Given the description of an element on the screen output the (x, y) to click on. 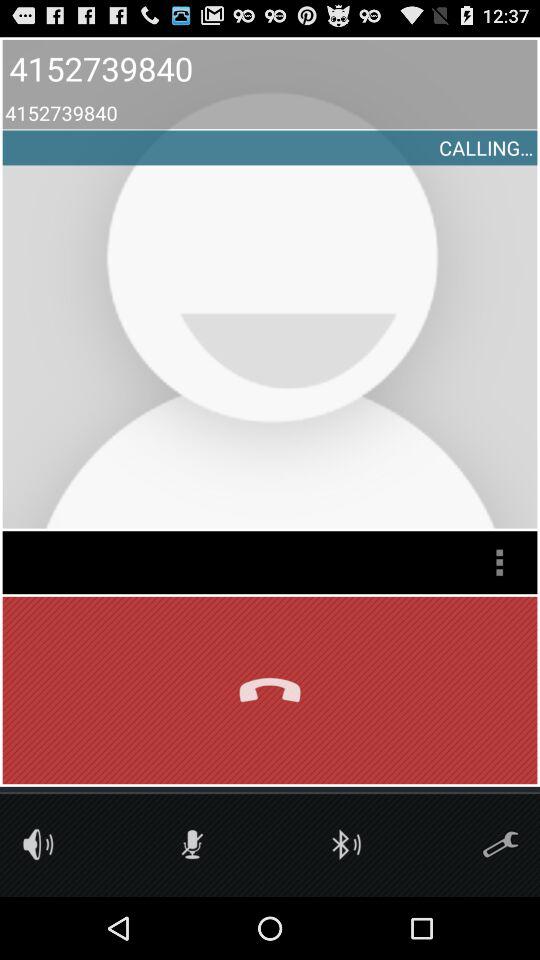
volume toggle button (38, 844)
